Given the description of an element on the screen output the (x, y) to click on. 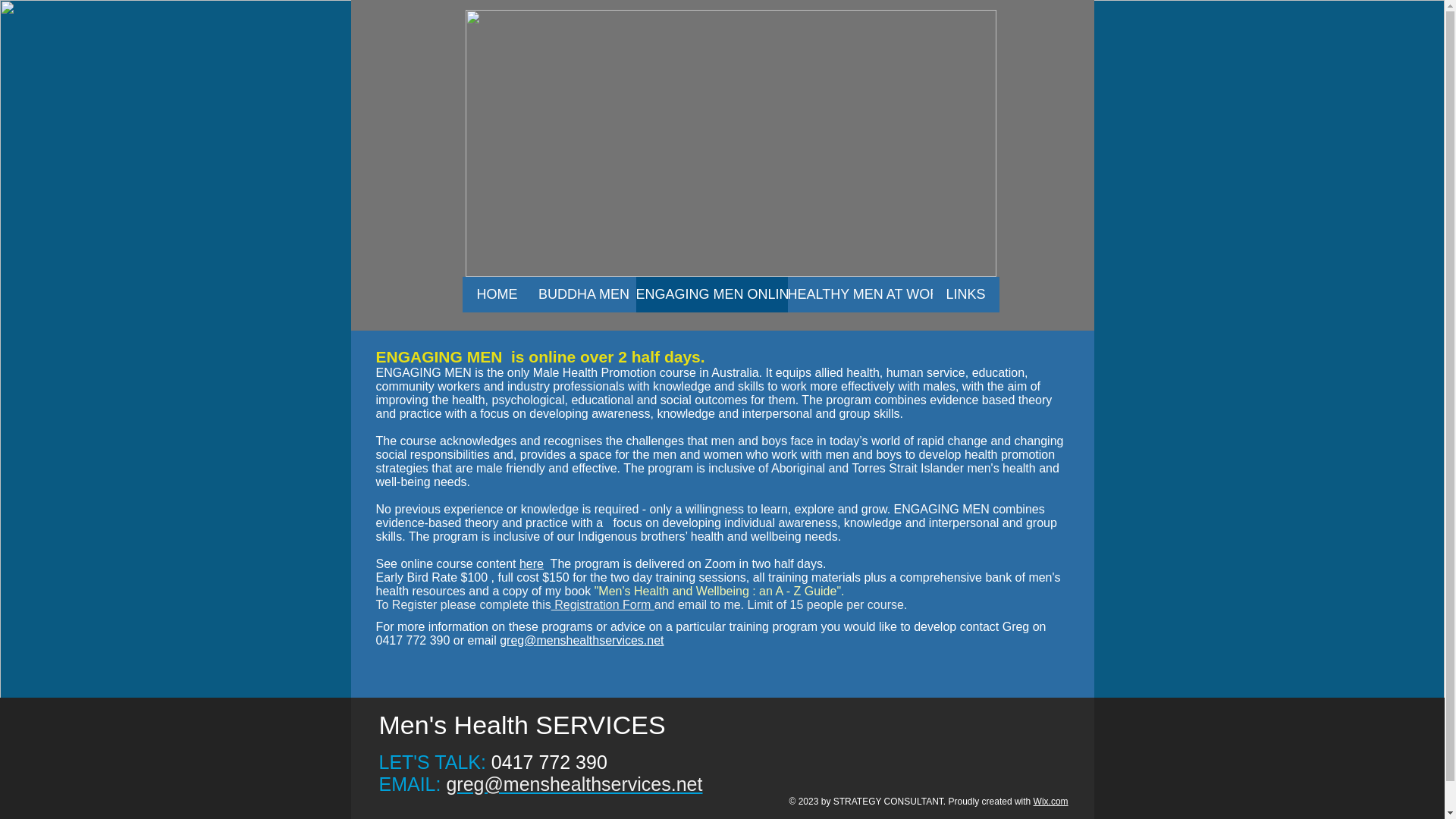
Wix.com (1050, 801)
BUDDHA MEN (584, 294)
HEALTHY MEN AT WORK (859, 294)
LINKS (965, 294)
ENGAGING MEN ONLINE (710, 294)
HOME (497, 294)
here (531, 563)
Registration Form (602, 604)
